Given the description of an element on the screen output the (x, y) to click on. 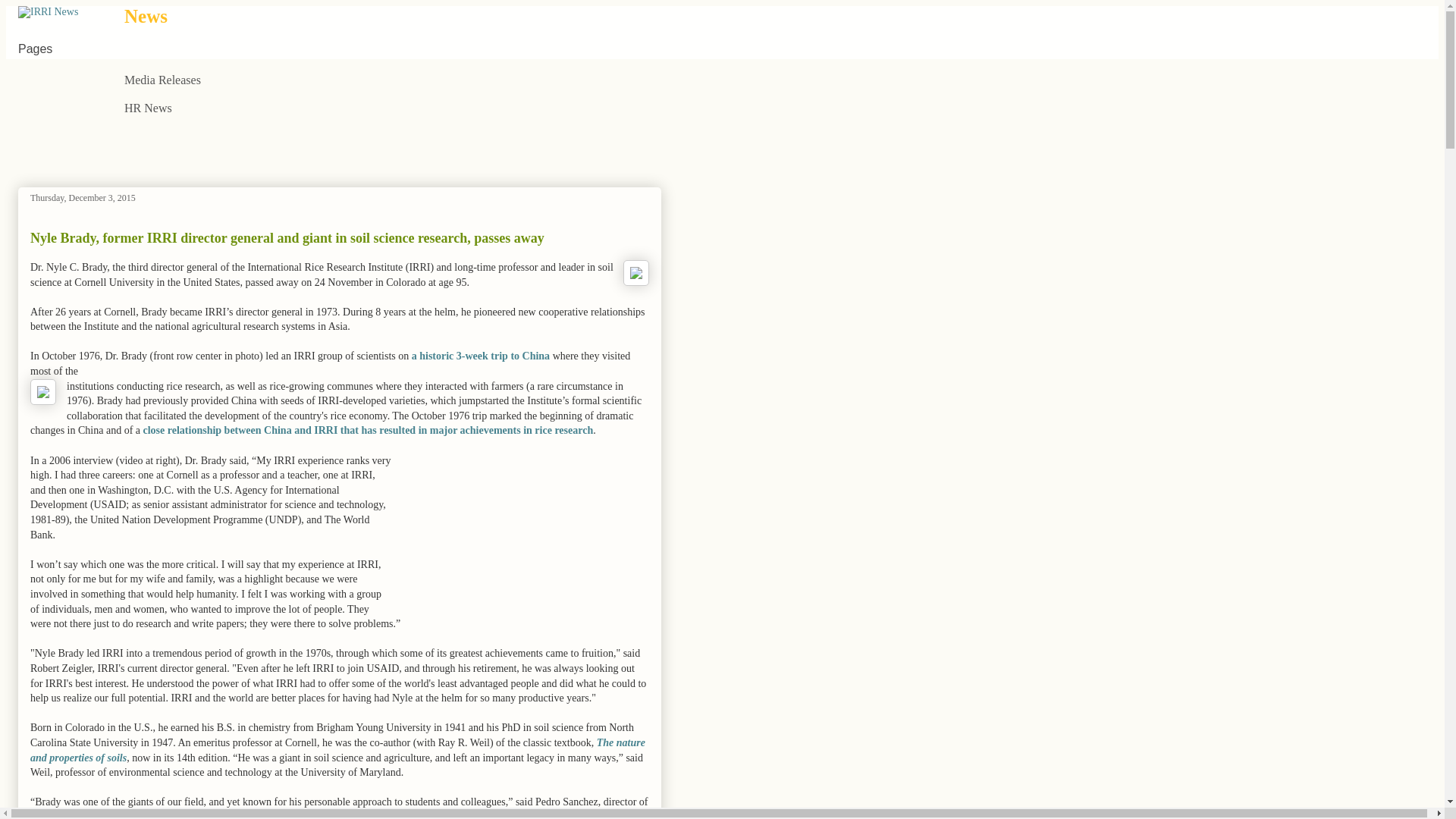
Media Releases (161, 80)
HR News (147, 108)
News (145, 15)
The nature and properties of soils (337, 750)
a historic 3-week trip to China (481, 355)
